Given the description of an element on the screen output the (x, y) to click on. 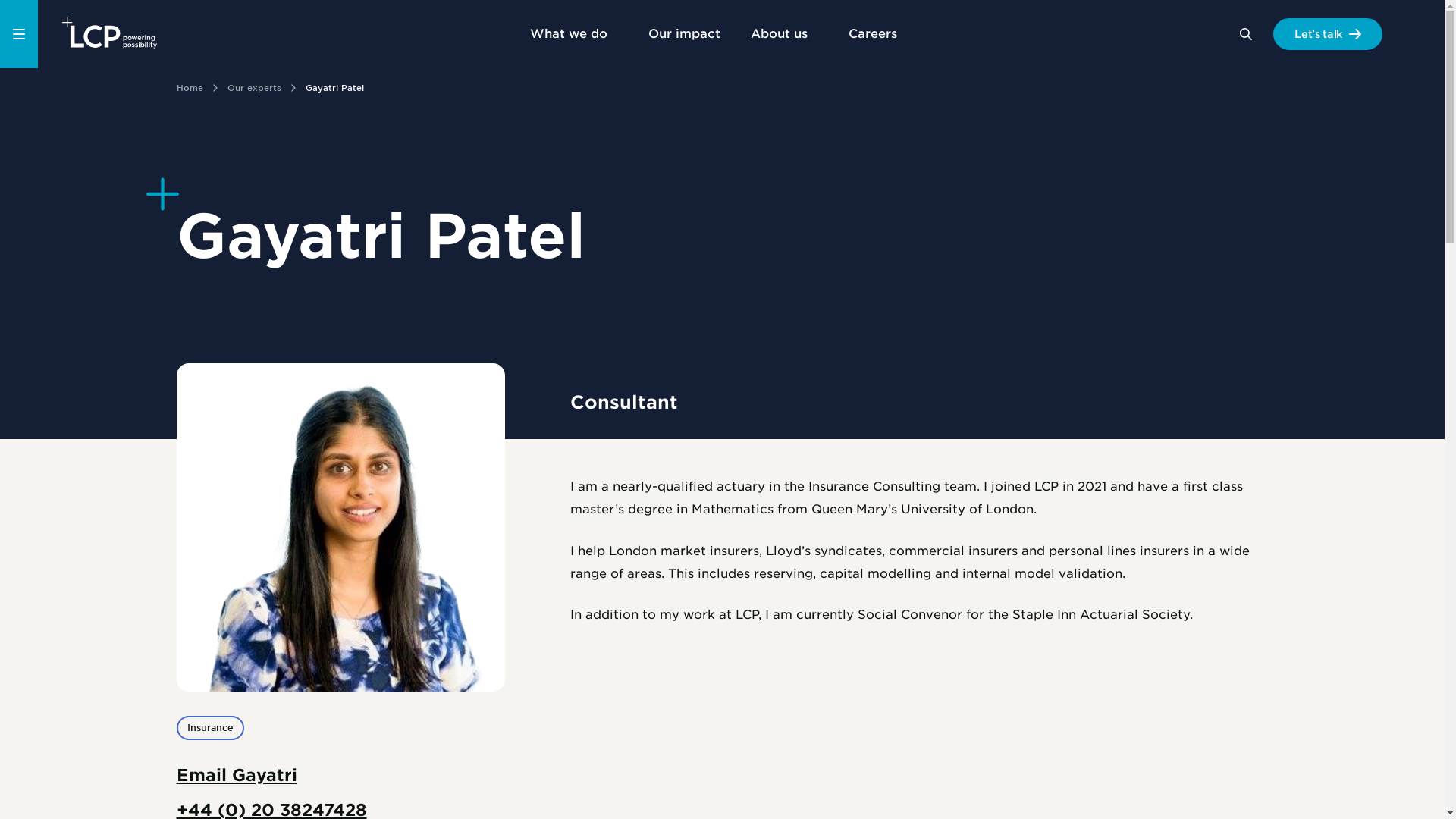
Search (1245, 33)
Careers (877, 33)
Our impact (683, 33)
What we do (573, 33)
About us (784, 33)
